Given the description of an element on the screen output the (x, y) to click on. 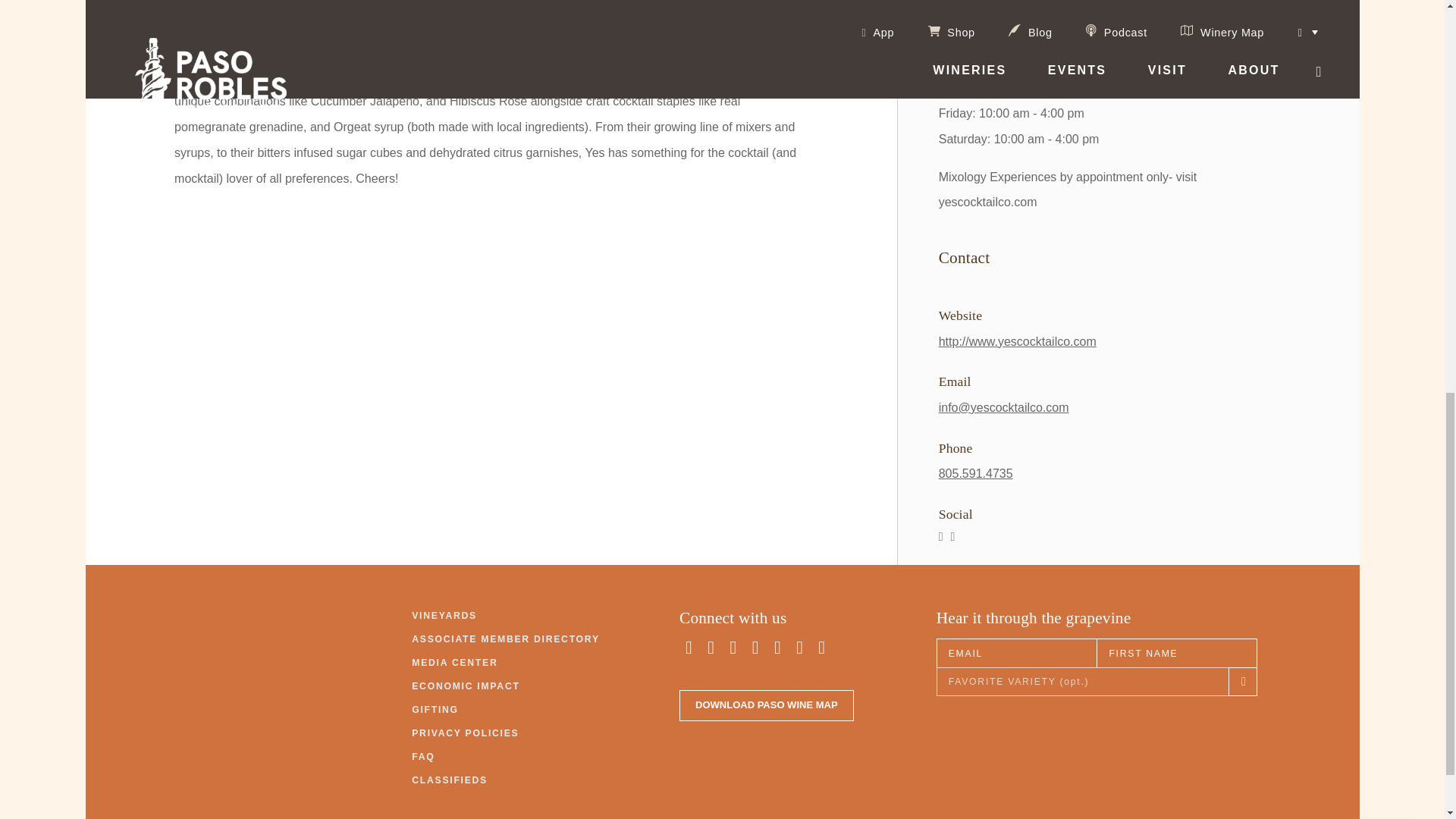
CLASSIFIEDS (449, 780)
Submit (1189, 218)
GIFTING (435, 709)
ECONOMIC IMPACT (465, 686)
Close (1418, 10)
DOWNLOAD PASO WINE MAP (766, 705)
PRIVACY POLICIES (465, 733)
805.591.4735 (976, 472)
FAQ (422, 757)
VINEYARDS (444, 615)
ASSOCIATE MEMBER DIRECTORY (505, 639)
MEDIA CENTER (454, 663)
